Given the description of an element on the screen output the (x, y) to click on. 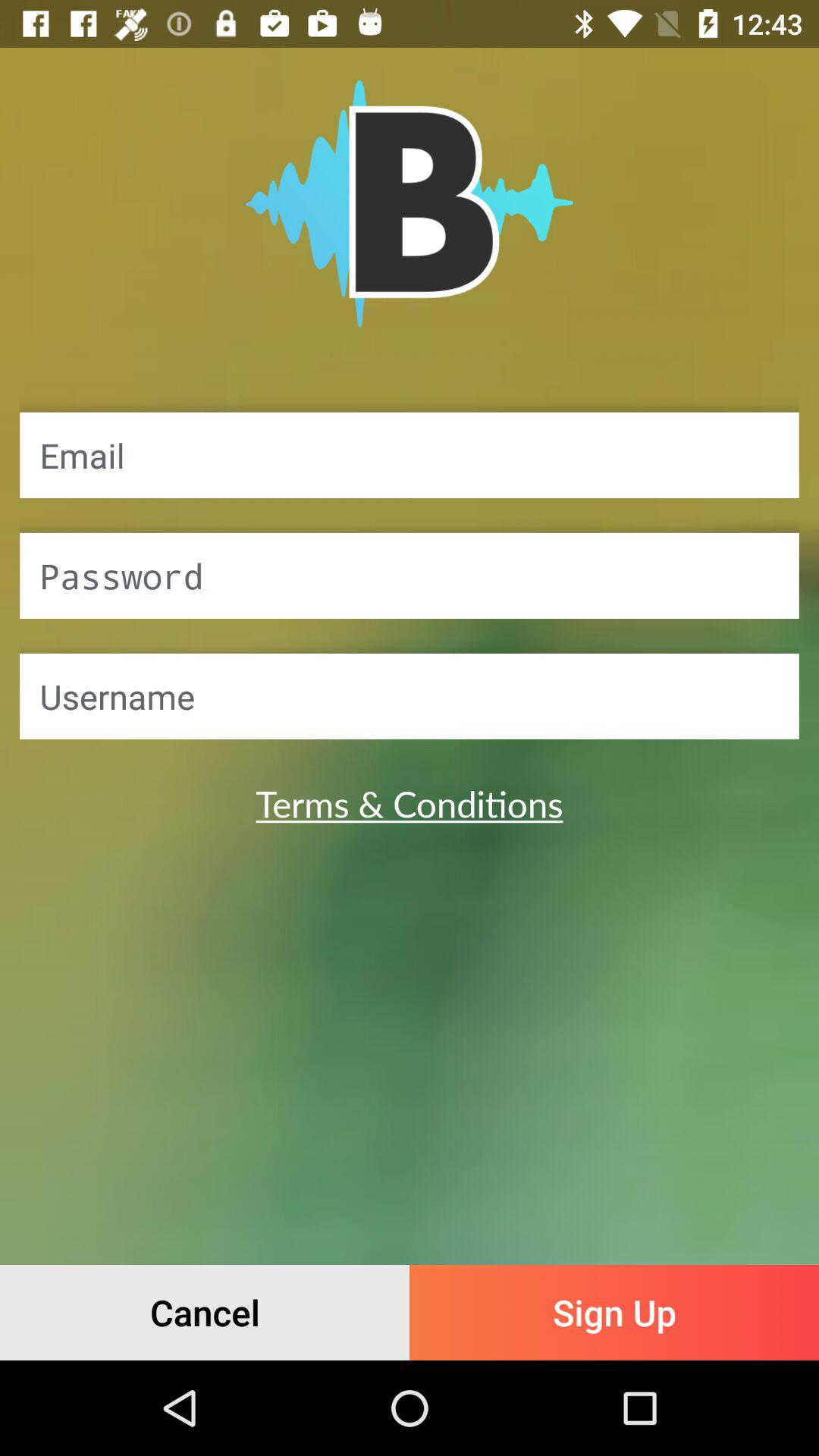
turn off icon next to the sign up item (204, 1312)
